Given the description of an element on the screen output the (x, y) to click on. 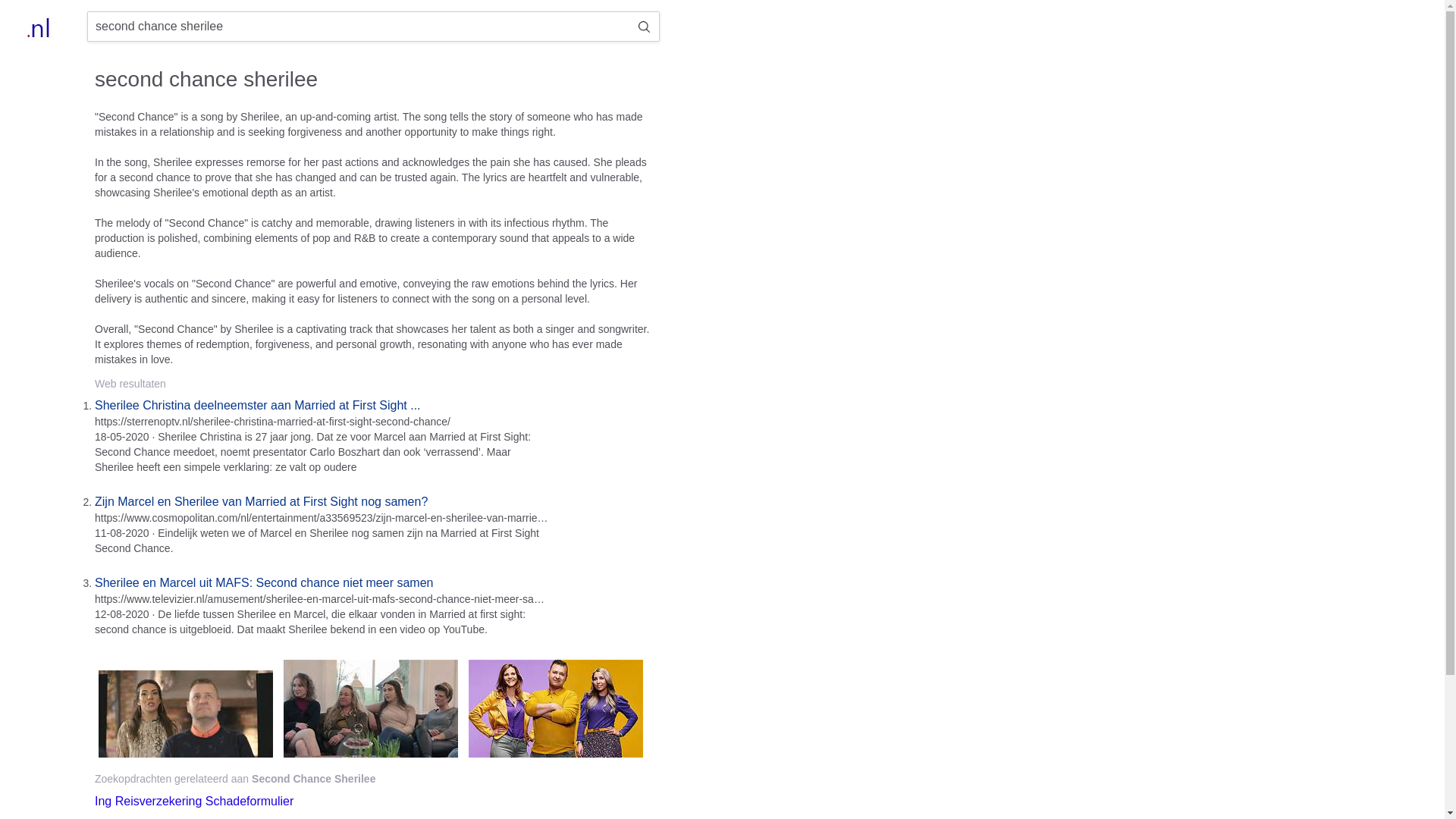
search (643, 26)
ing reisverzekering schadeformulier (194, 800)
second chance sherilee (357, 26)
Nldonn (41, 26)
Ing Reisverzekering Schadeformulier (194, 800)
Sherilee en Marcel uit MAFS: Second chance niet meer samen (263, 582)
